Given the description of an element on the screen output the (x, y) to click on. 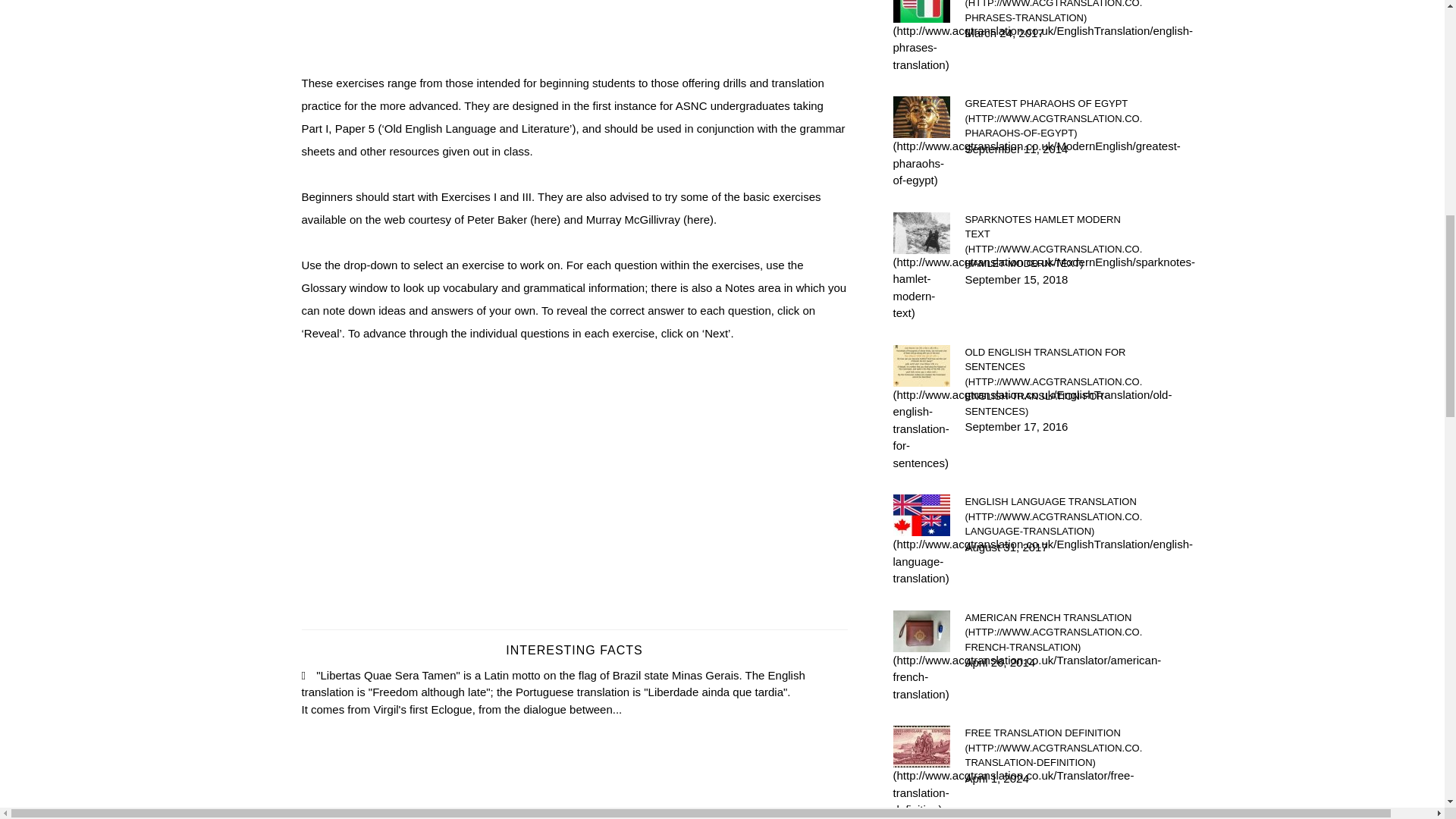
AMERICAN FRENCH TRANSLATION (1052, 631)
ENGLISH PHRASES TRANSLATION (1052, 12)
Advertisement (574, 490)
ENGLISH LANGUAGE TRANSLATION (1052, 516)
OLD ENGLISH TRANSLATION FOR SENTENCES (1052, 380)
FREE TRANSLATION DEFINITION (1052, 747)
Advertisement (574, 36)
SPARKNOTES HAMLET MODERN TEXT (1052, 241)
GREATEST PHARAOHS OF EGYPT (1052, 118)
